Given the description of an element on the screen output the (x, y) to click on. 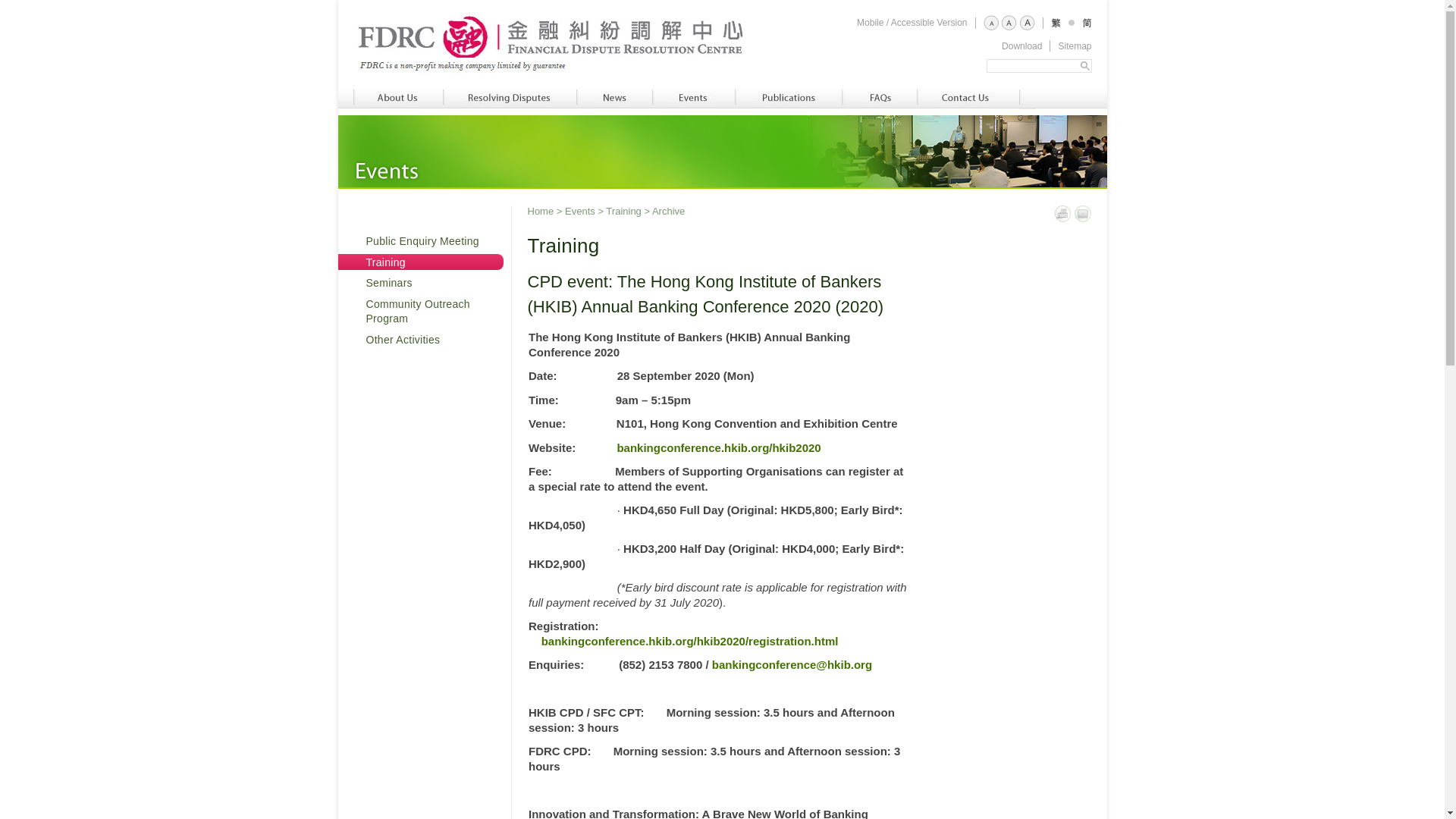
Download (1021, 45)
Sitemap (1074, 45)
